Given the description of an element on the screen output the (x, y) to click on. 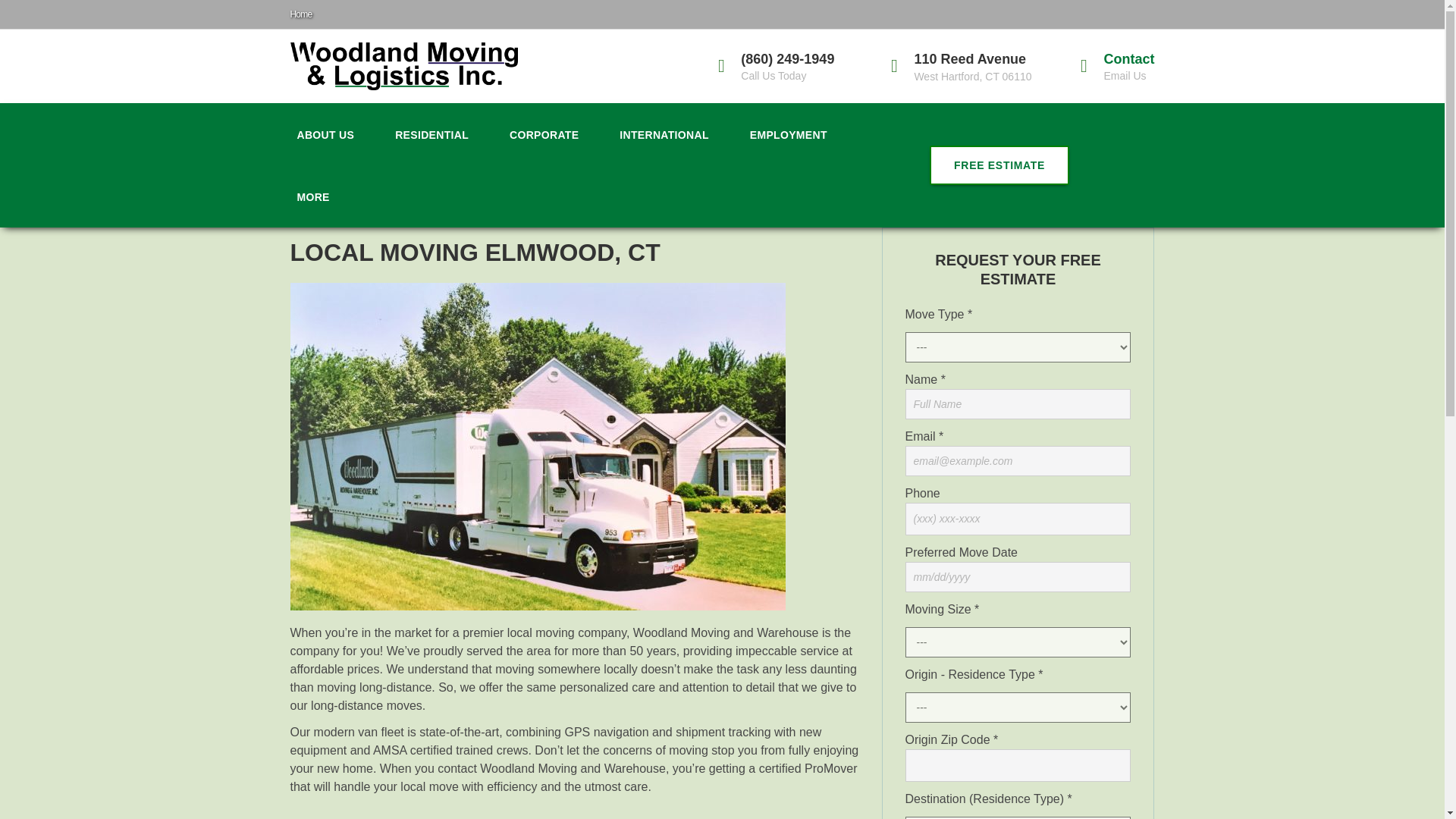
CORPORATE (543, 134)
EMPLOYMENT (788, 134)
ABOUT US (325, 134)
INTERNATIONAL (663, 134)
Contact (1128, 58)
FREE ESTIMATE (999, 165)
Home (300, 14)
RESIDENTIAL (432, 134)
